Given the description of an element on the screen output the (x, y) to click on. 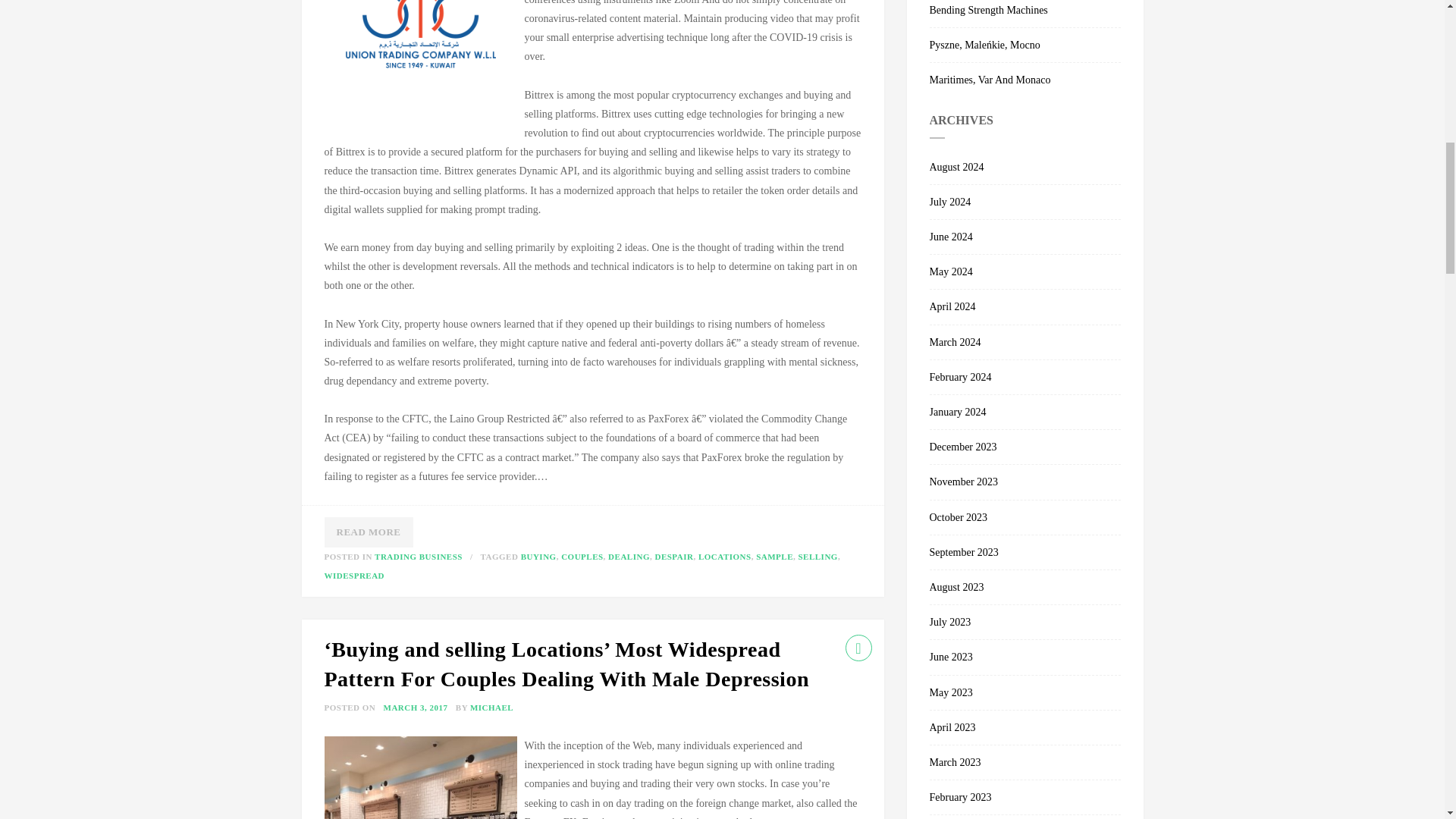
MARCH 3, 2017 (416, 706)
SELLING (817, 556)
BUYING (538, 556)
READ MORE (368, 531)
WIDESPREAD (354, 574)
DESPAIR (673, 556)
TRADING BUSINESS (418, 556)
COUPLES (581, 556)
MICHAEL (491, 706)
LOCATIONS (724, 556)
DEALING (628, 556)
SAMPLE (774, 556)
